Given the description of an element on the screen output the (x, y) to click on. 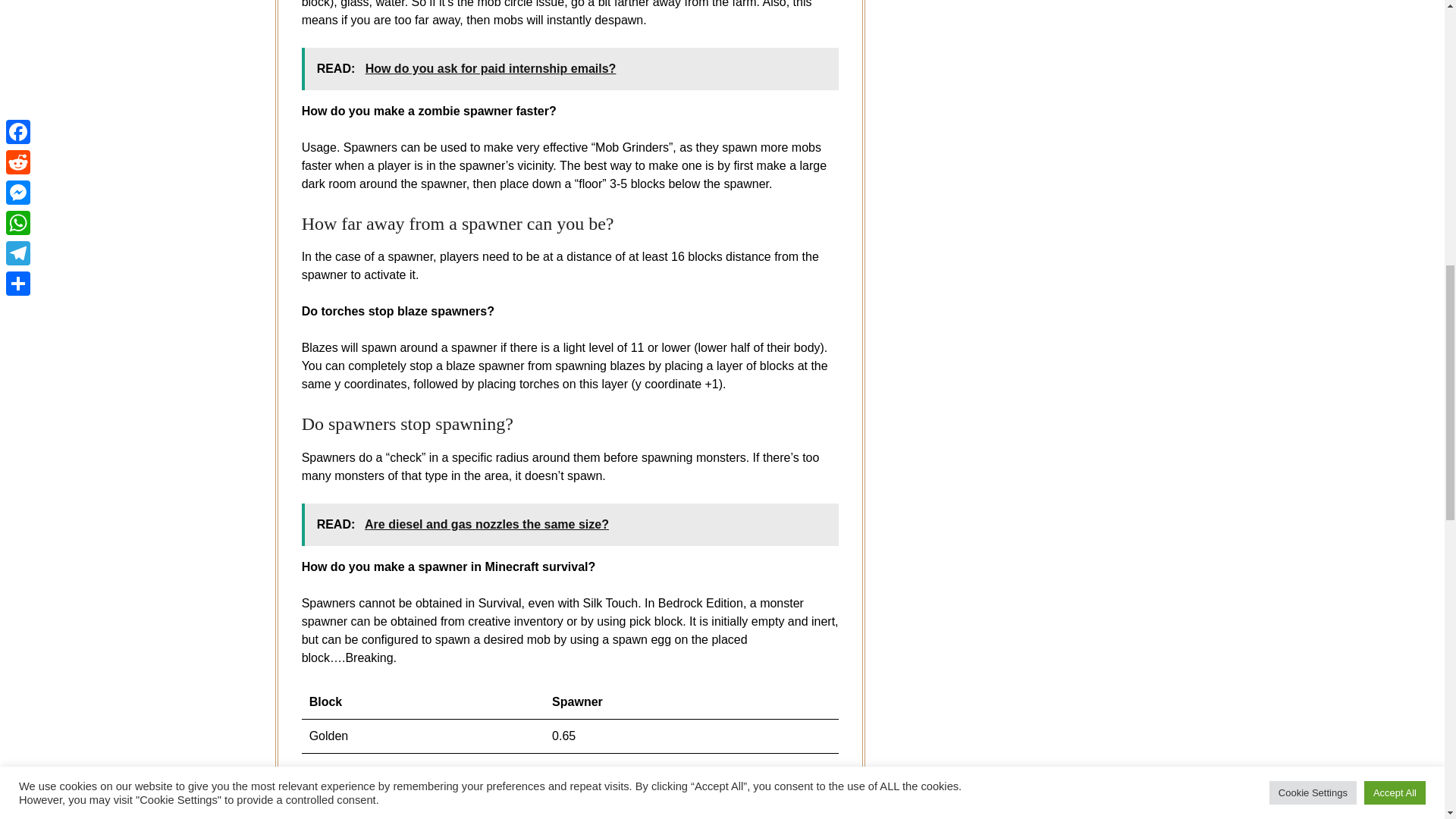
READ:   How do you ask for paid internship emails? (570, 68)
READ:   Are diesel and gas nozzles the same size? (570, 524)
